Given the description of an element on the screen output the (x, y) to click on. 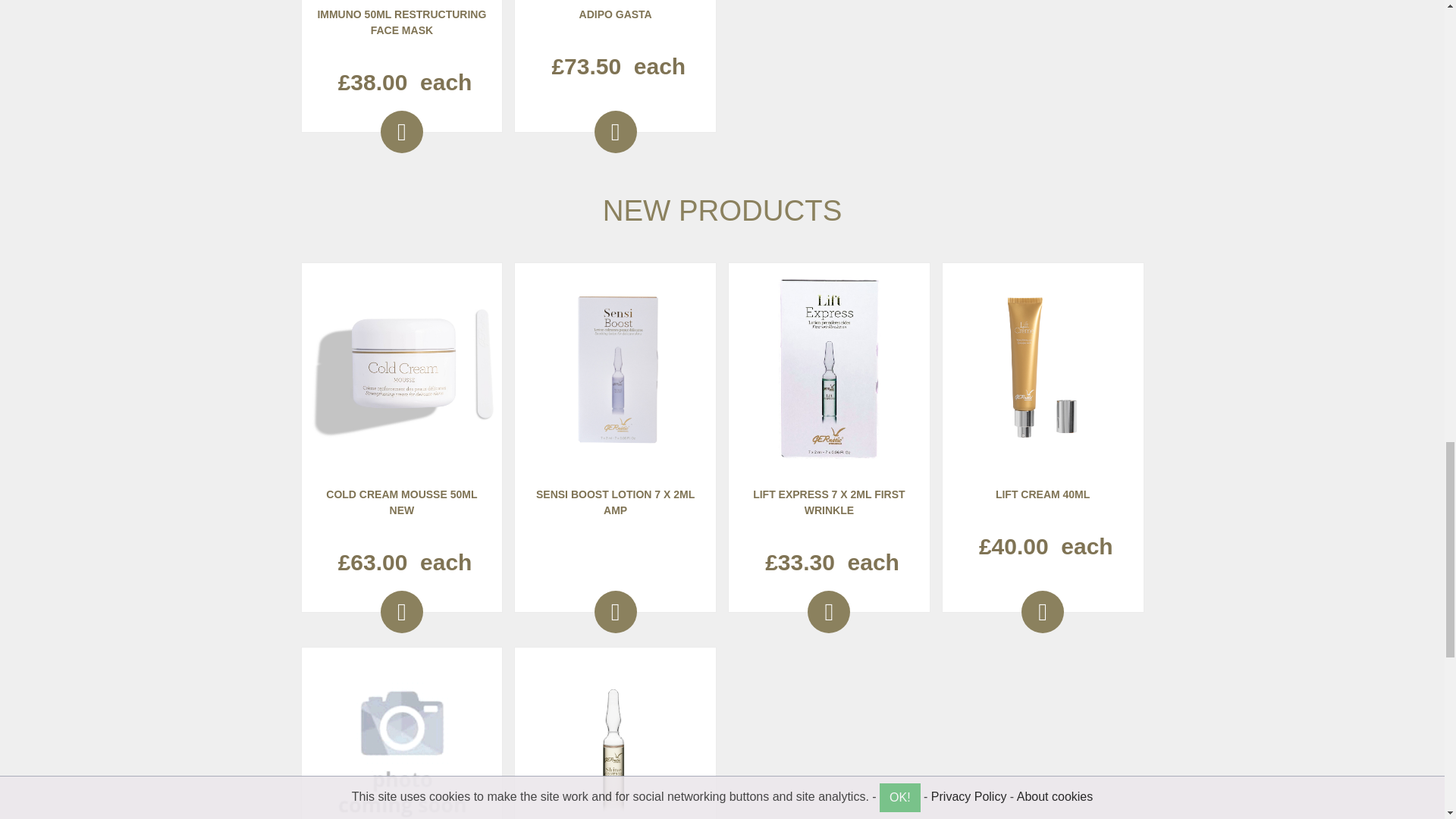
Glyco 500ml  (401, 741)
